Given the description of an element on the screen output the (x, y) to click on. 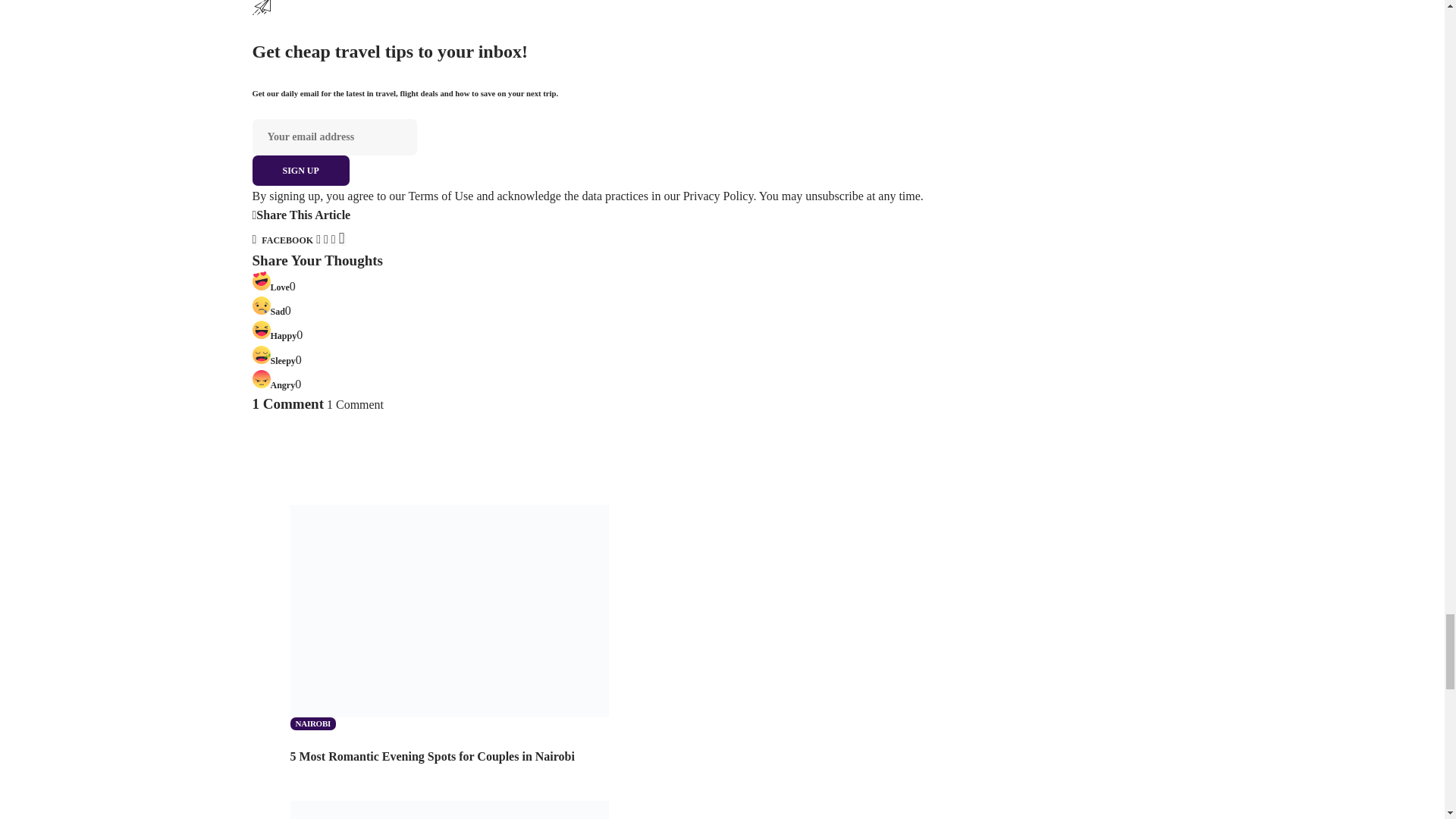
Sign up (300, 170)
5 Most Romantic Evening Spots for Couples in Nairobi 10 (448, 611)
5 Most Romantic Evening Spots for Couples in Nairobi (448, 608)
